Given the description of an element on the screen output the (x, y) to click on. 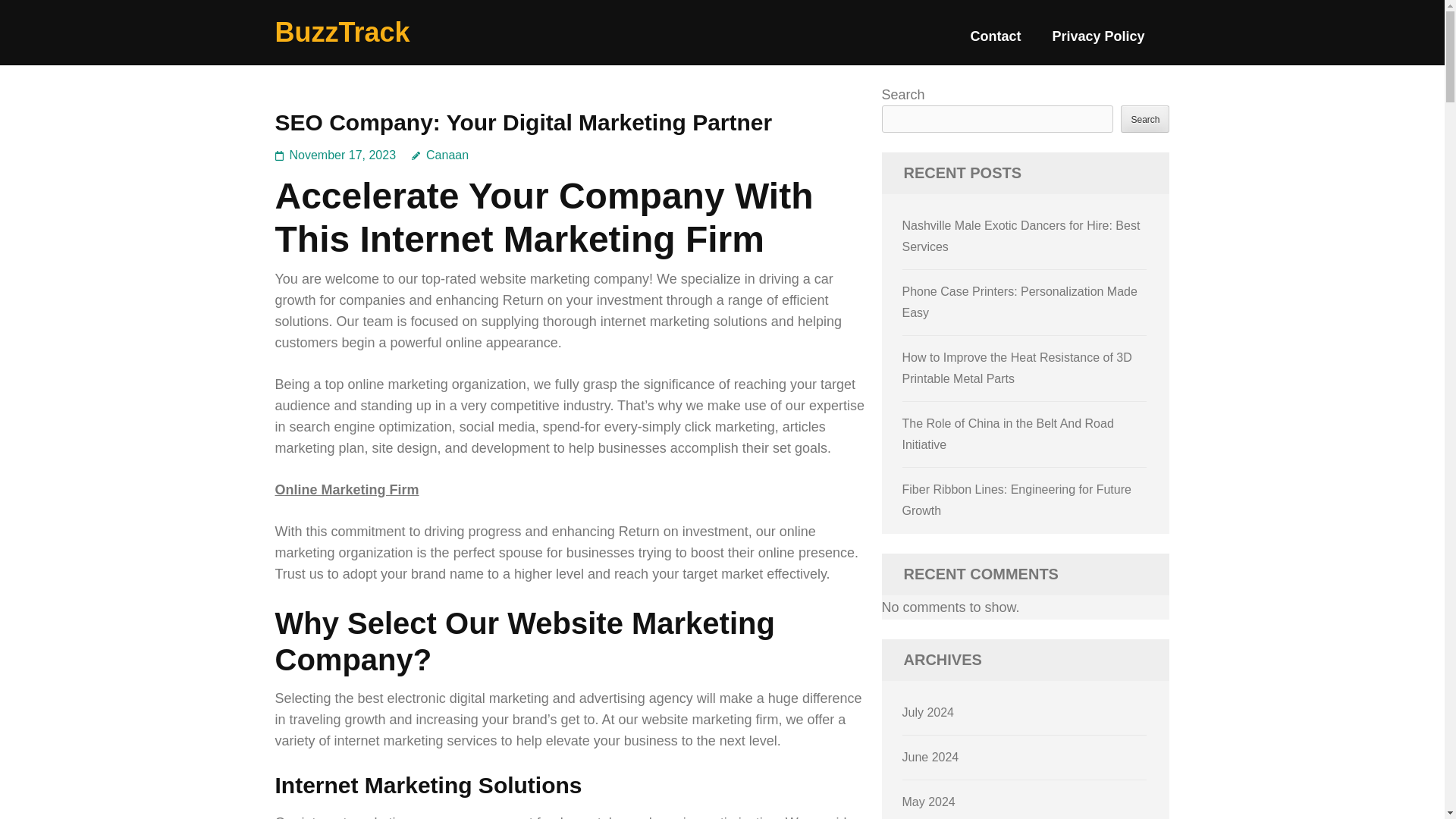
Fiber Ribbon Lines: Engineering for Future Growth (1016, 499)
Privacy Policy (1097, 42)
November 17, 2023 (342, 154)
The Role of China in the Belt And Road Initiative (1007, 433)
June 2024 (930, 757)
Online Marketing Firm (347, 489)
Nashville Male Exotic Dancers for Hire: Best Services (1021, 236)
Phone Case Printers: Personalization Made Easy (1019, 302)
Canaan (440, 154)
Search (1145, 118)
BuzzTrack (342, 31)
May 2024 (928, 801)
July 2024 (928, 712)
Contact (994, 42)
